Given the description of an element on the screen output the (x, y) to click on. 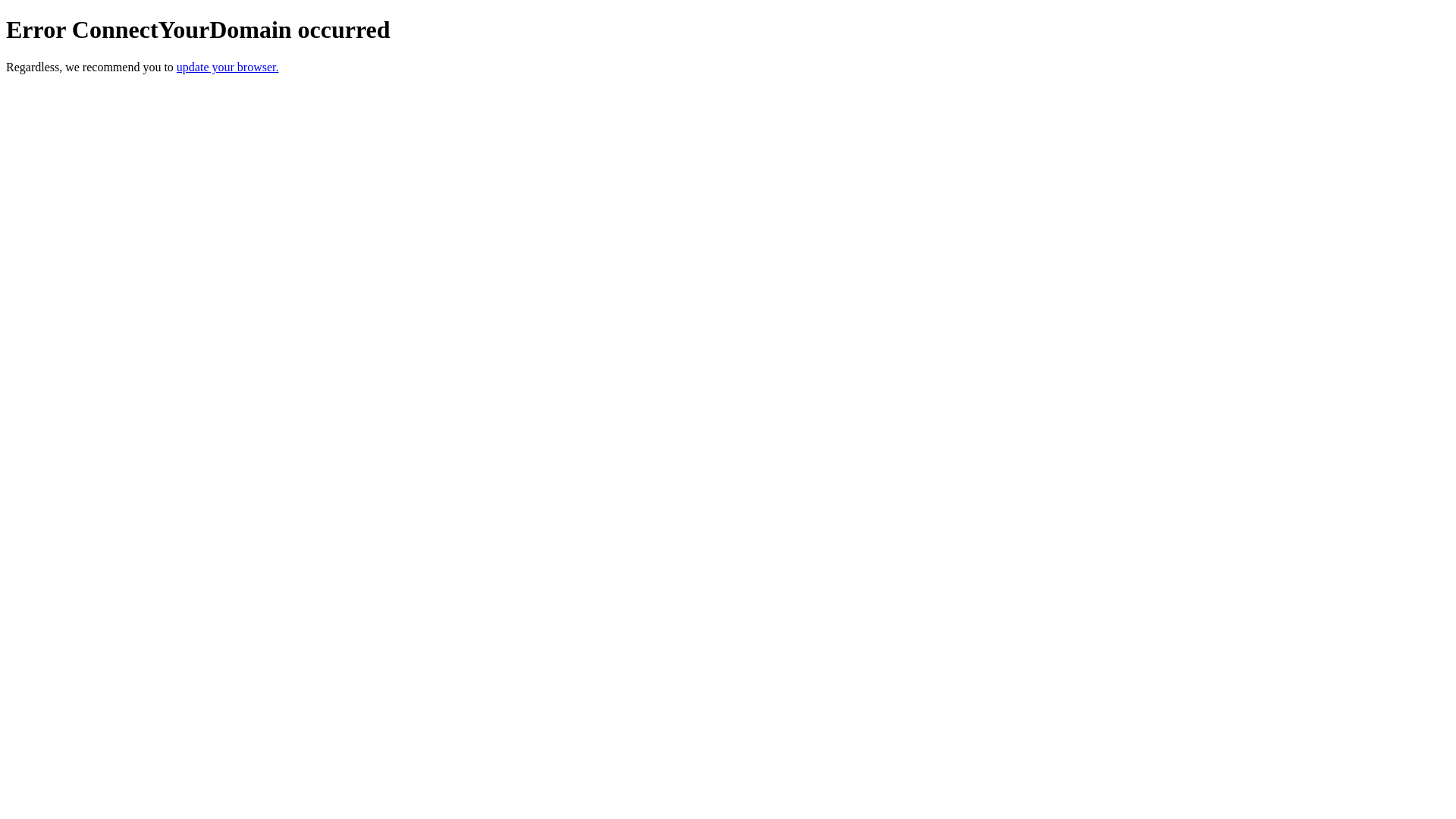
update your browser. Element type: text (227, 66)
